Given the description of an element on the screen output the (x, y) to click on. 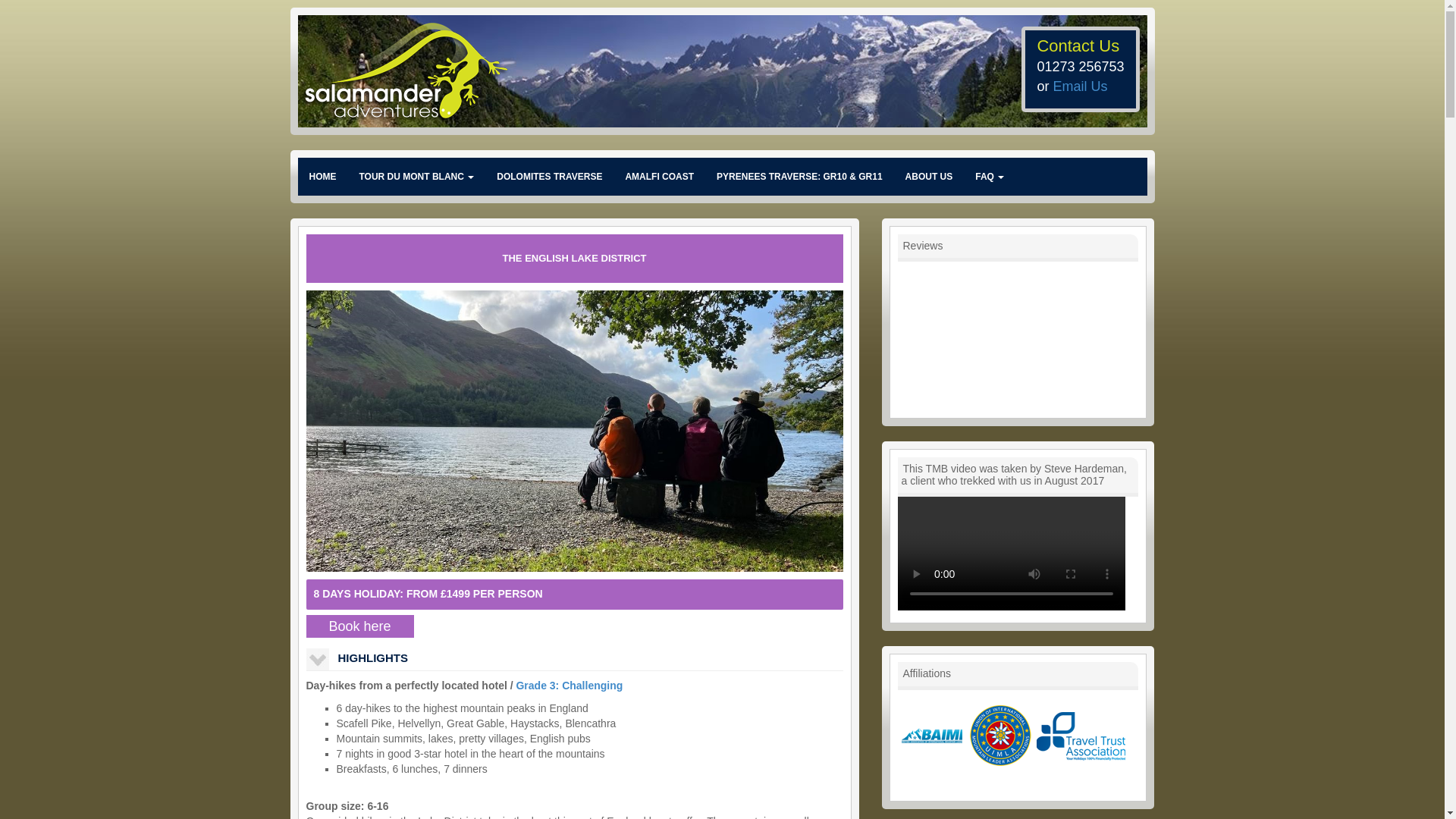
Home (322, 176)
AMALFI COAST (658, 176)
Grade 3: Challenging (569, 685)
DOLOMITES TRAVERSE (548, 176)
Amalfi Coast (658, 176)
FAQ (988, 176)
Tour Du Mont Blanc (415, 176)
FAQ (988, 176)
TOUR DU MONT BLANC (415, 176)
HOME (322, 176)
